Given the description of an element on the screen output the (x, y) to click on. 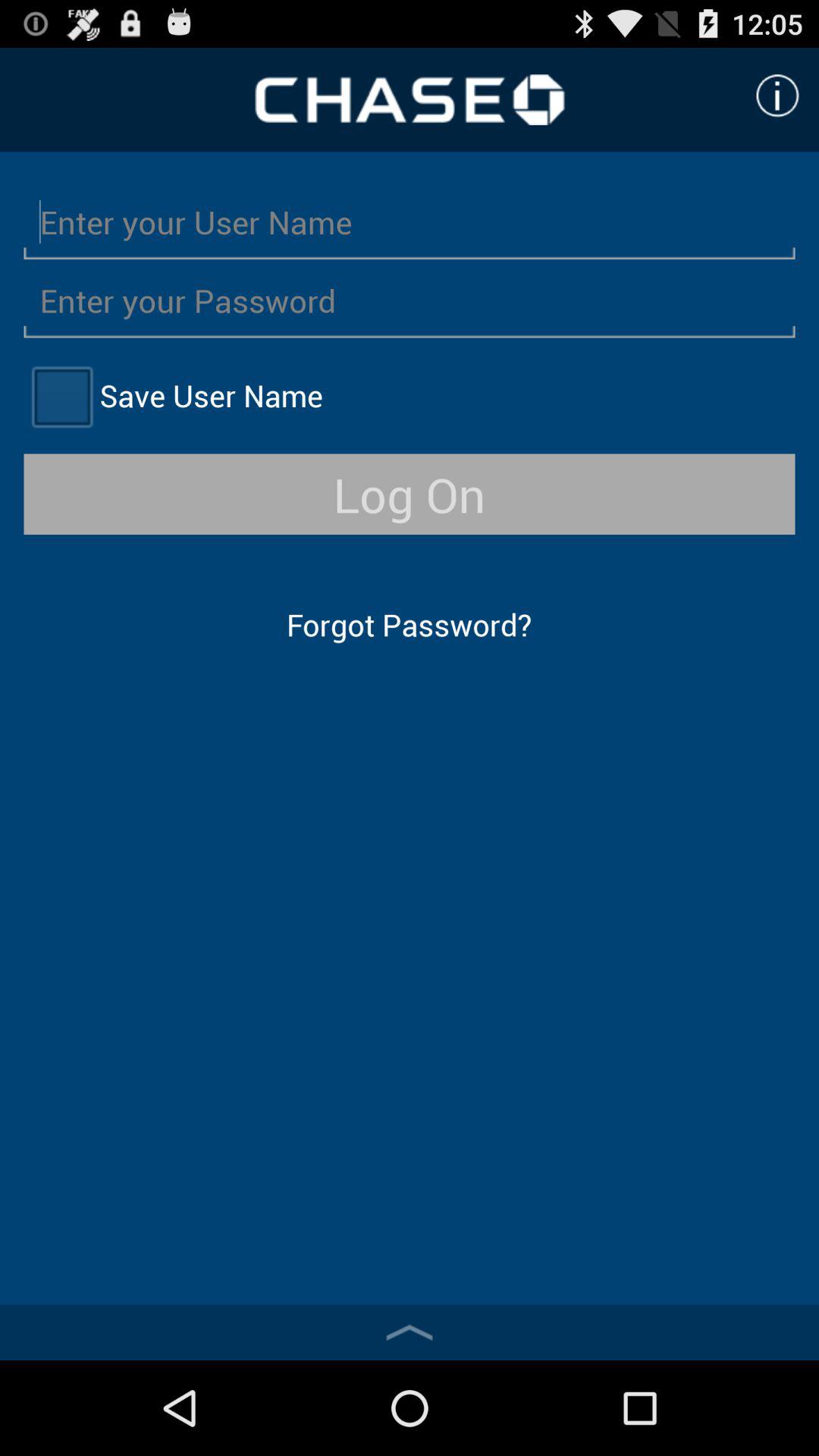
save user name (61, 395)
